Given the description of an element on the screen output the (x, y) to click on. 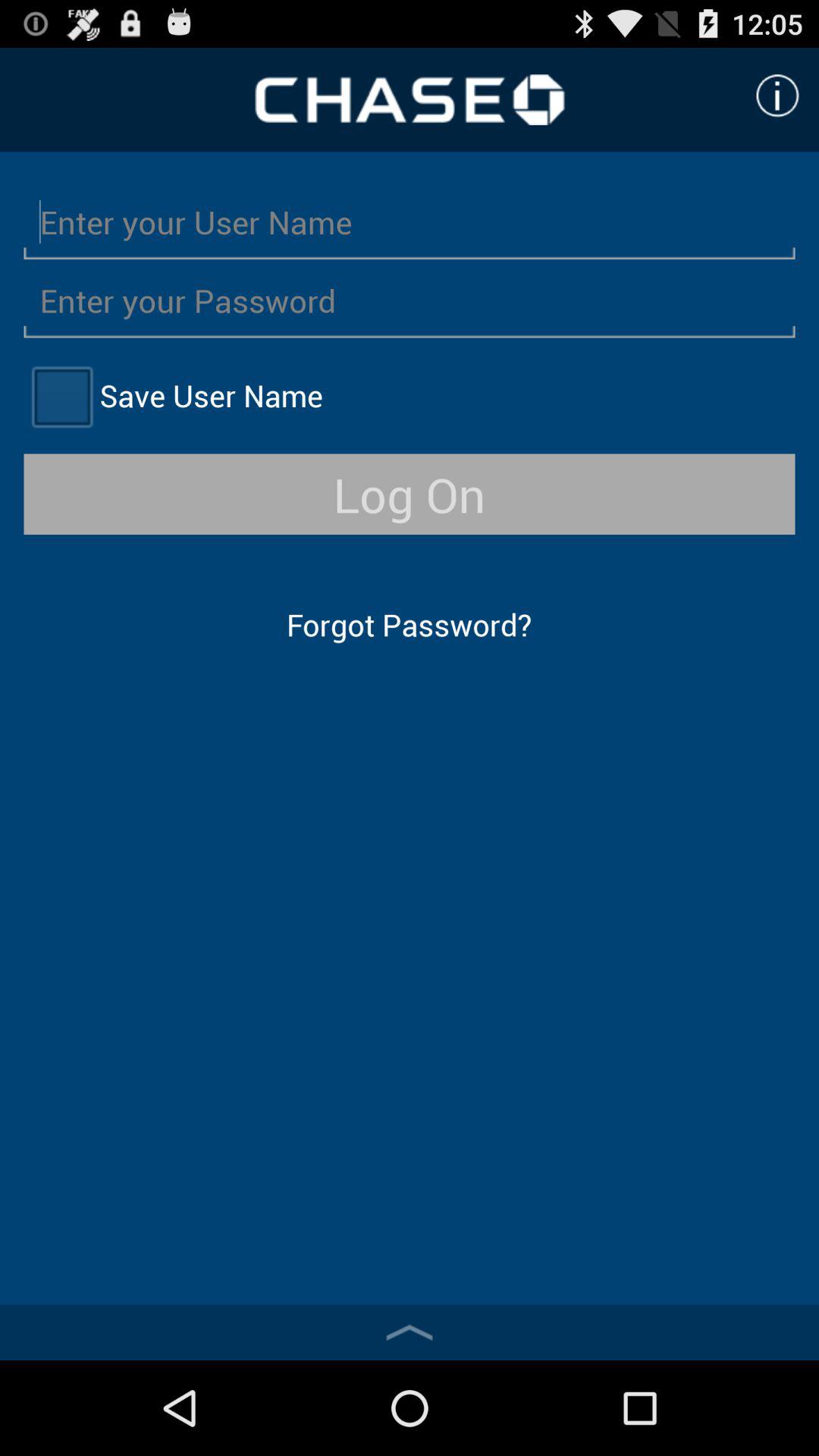
save user name (61, 395)
